Given the description of an element on the screen output the (x, y) to click on. 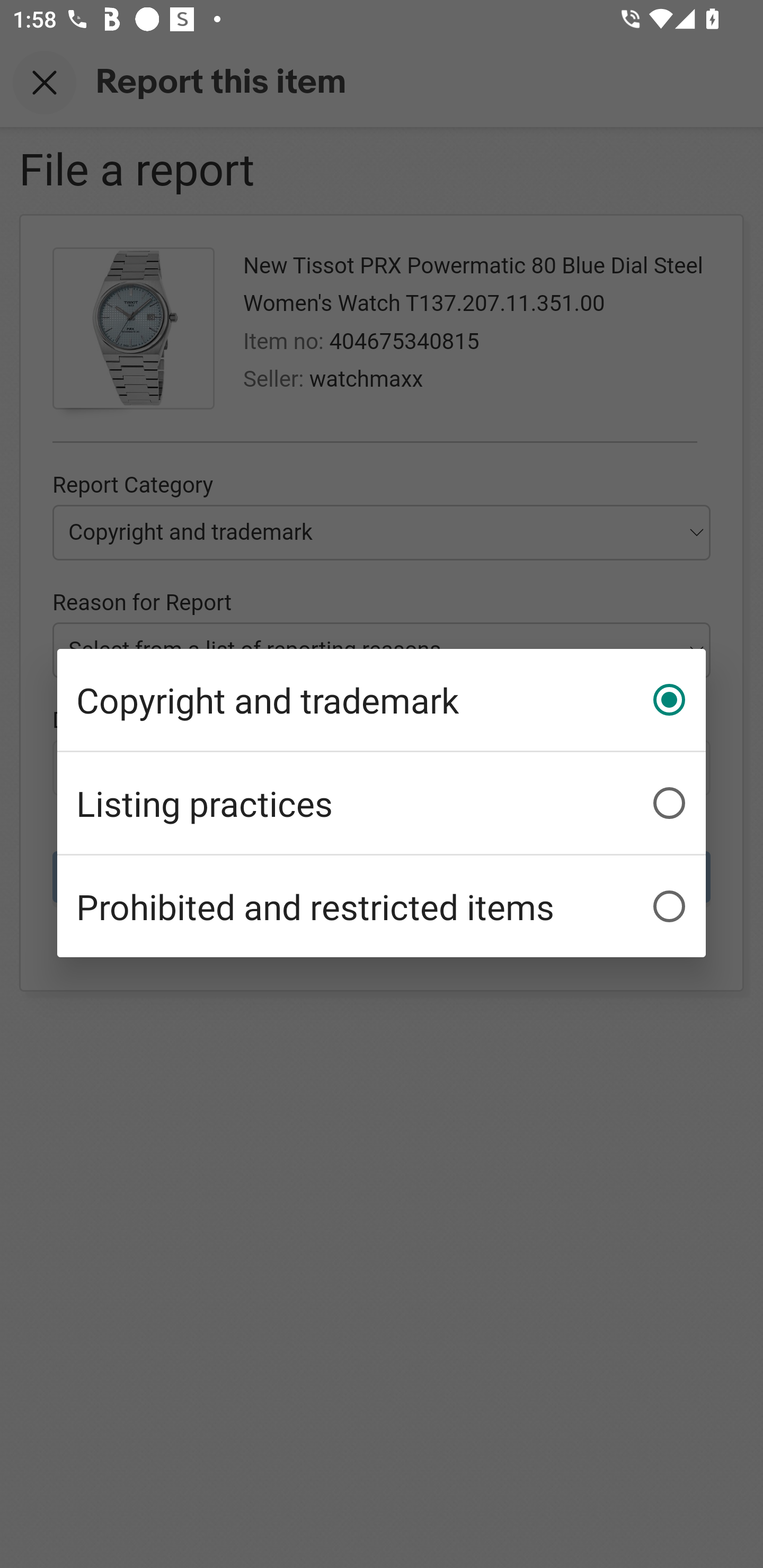
Copyright and trademark (381, 700)
Listing practices (381, 803)
Prohibited and restricted items (381, 906)
